Given the description of an element on the screen output the (x, y) to click on. 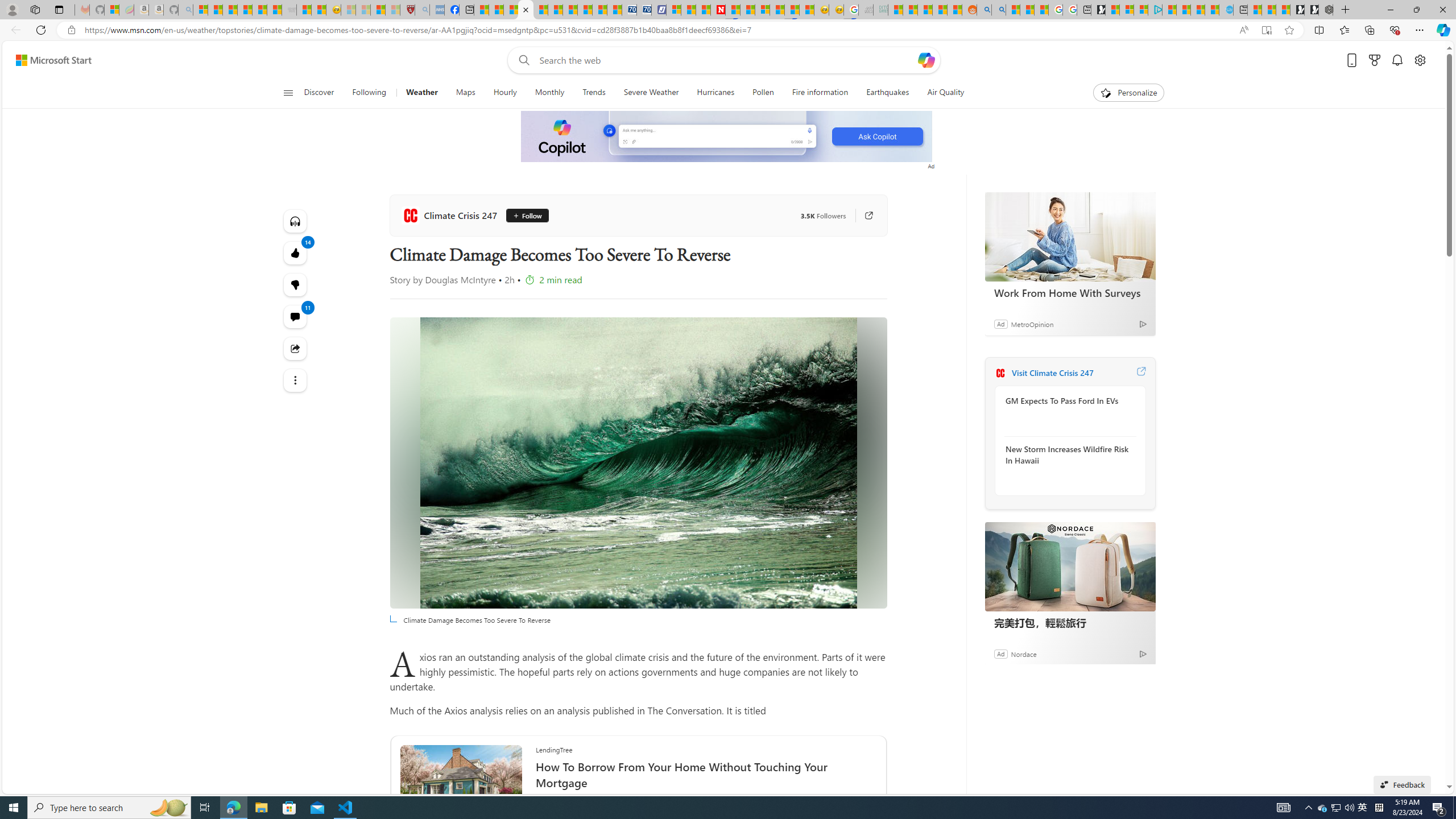
Hourly (504, 92)
Class: at-item (295, 380)
View comments 11 Comment (295, 316)
